Given the description of an element on the screen output the (x, y) to click on. 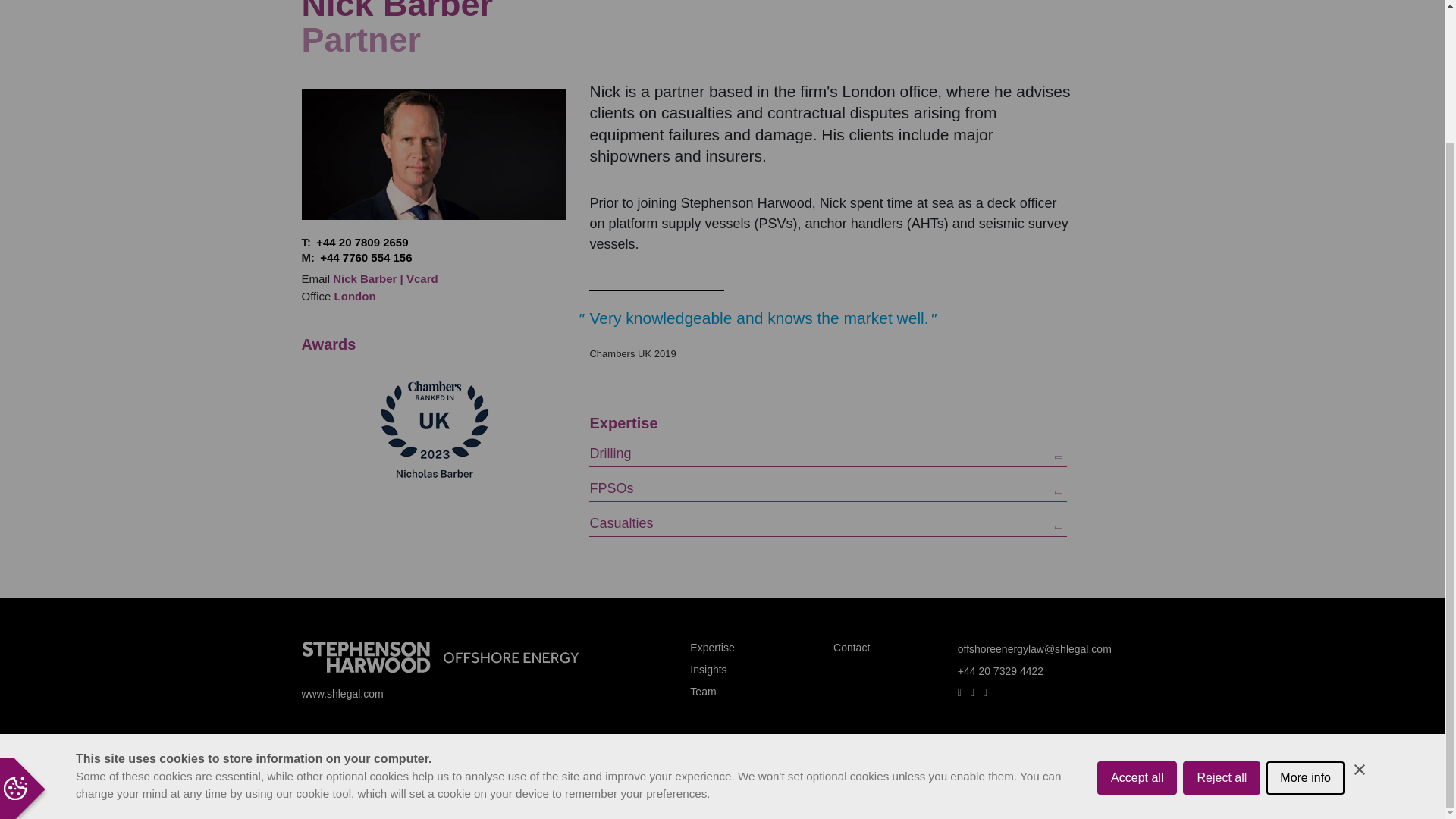
Home (440, 657)
Insights (708, 669)
Casualties (828, 519)
Insights (708, 669)
Contact (850, 647)
More info (1304, 635)
Expertise (711, 647)
FPSOs (828, 484)
Accept all (1136, 674)
Vcard (422, 278)
